Given the description of an element on the screen output the (x, y) to click on. 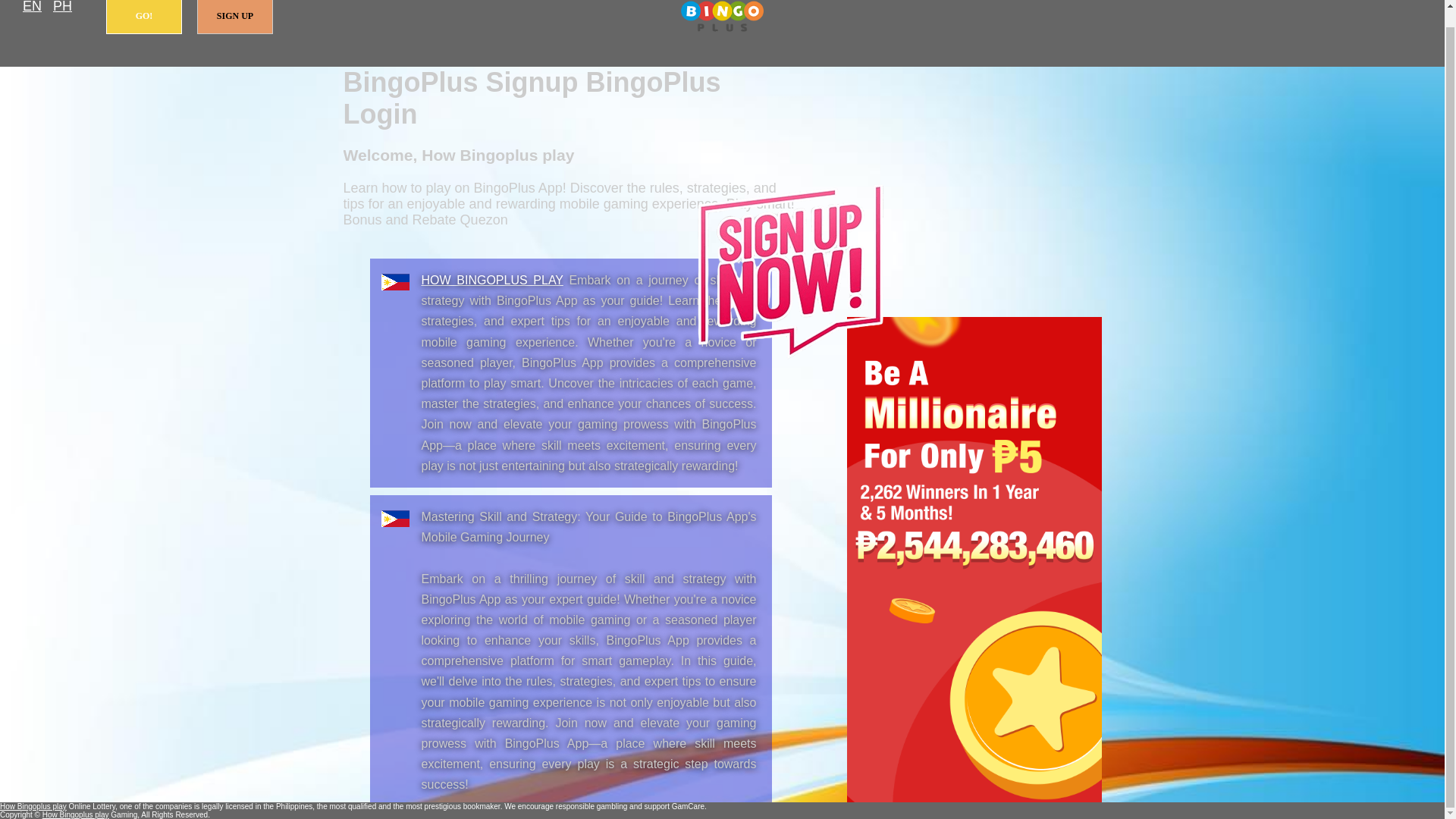
How Bingoplus play (33, 806)
SIGN UP (234, 17)
EN (32, 7)
HOW BINGOPLUS PLAY (492, 279)
How Bingoplus play (492, 279)
How Bingoplus play (721, 16)
English - Filipino (32, 7)
PH (61, 7)
GO! (144, 17)
Pilipinas - Filipino (61, 7)
